Given the description of an element on the screen output the (x, y) to click on. 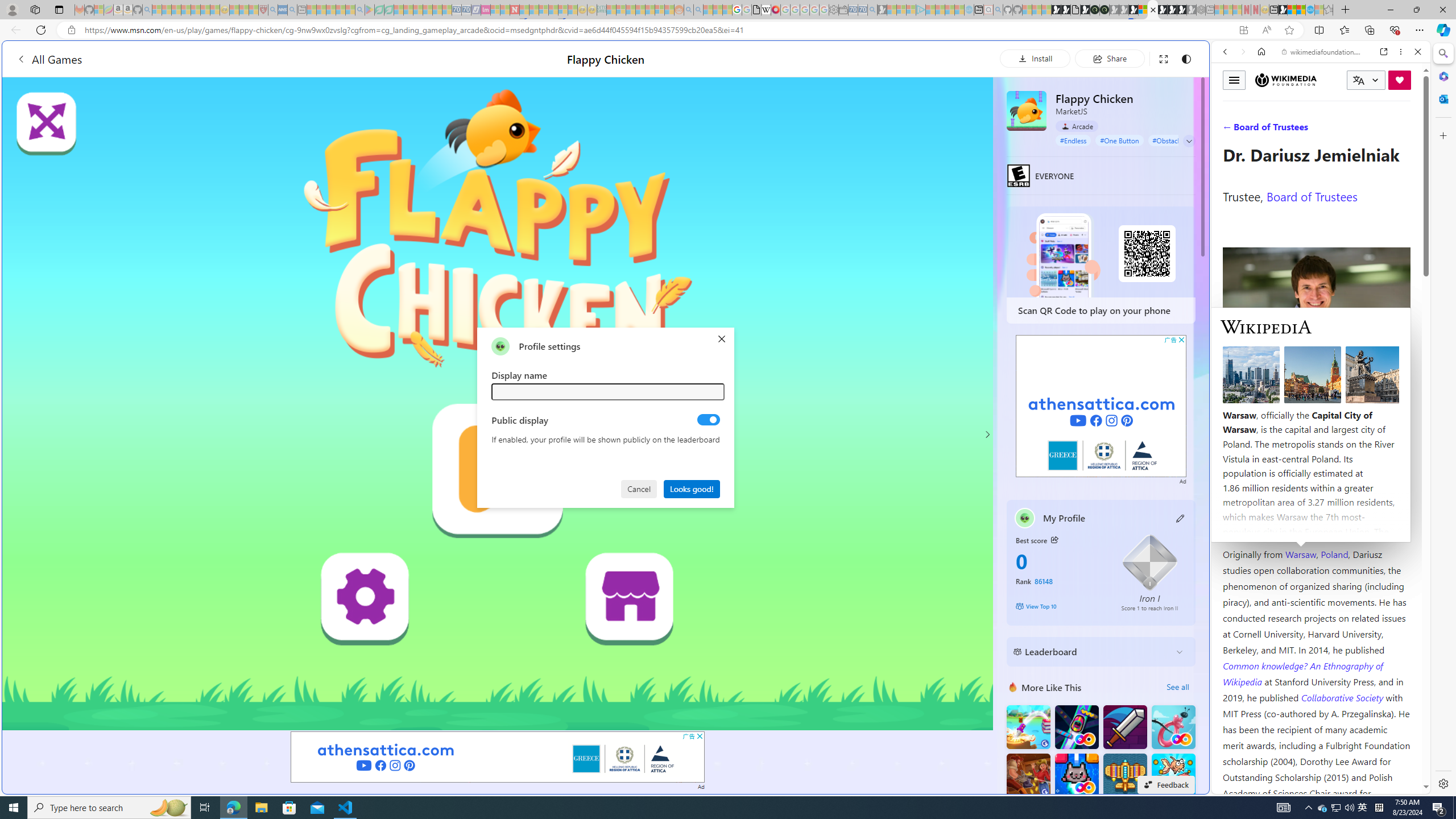
Close split screen (1208, 57)
Change to dark mode (1185, 58)
Terms of Use Agreement - Sleeping (378, 9)
Bing Real Estate - Home sales and rental listings - Sleeping (872, 9)
Search or enter web address (922, 108)
DITOGAMES AG Imprint - Sleeping (601, 9)
EVERYONE (1018, 175)
Jobs - lastminute.com Investor Portal - Sleeping (485, 9)
AutomationID: cbb (1181, 339)
Profile on Meta-Wiki (1273, 405)
Restore (1416, 9)
